Given the description of an element on the screen output the (x, y) to click on. 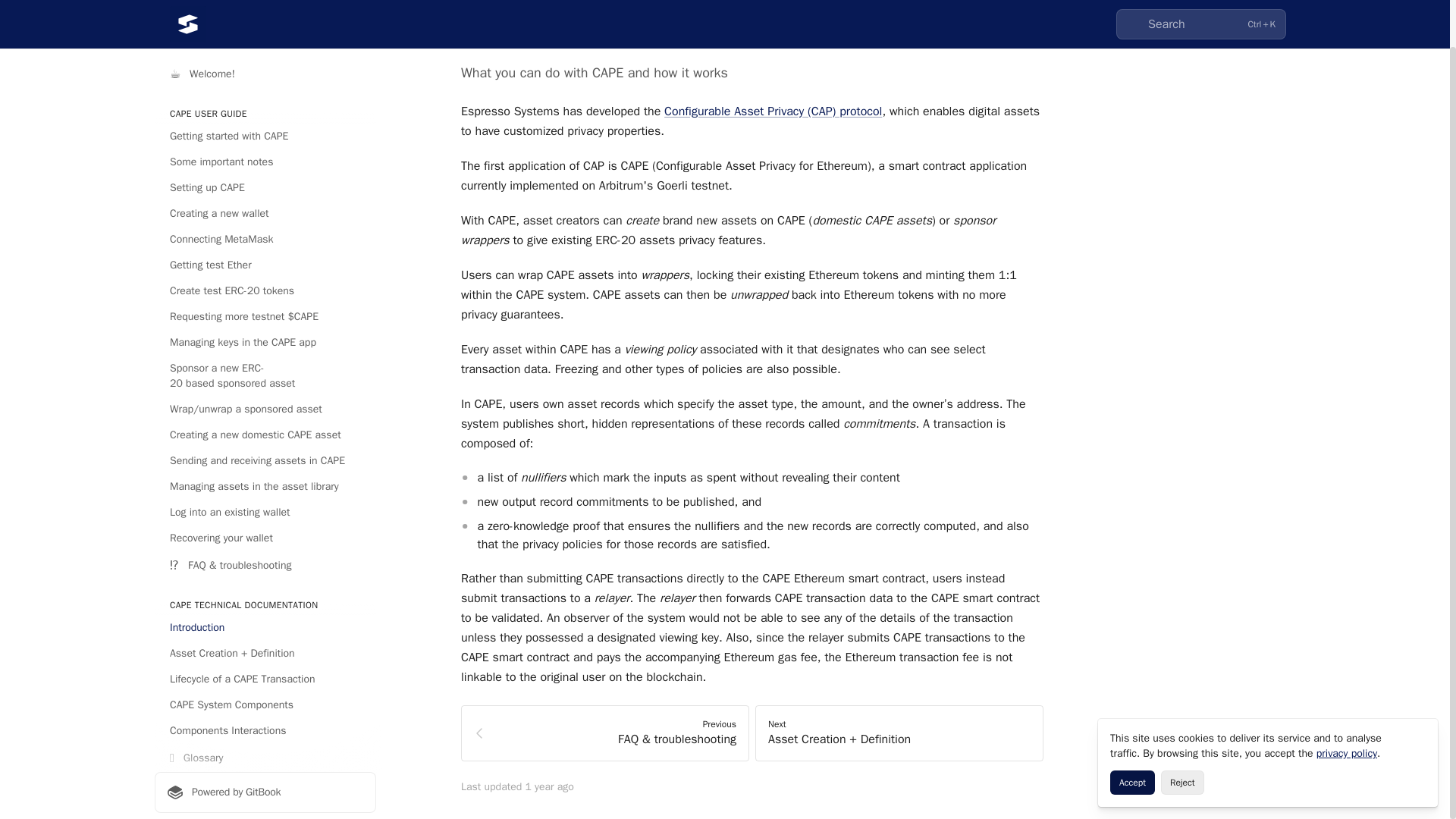
Log into an existing wallet (264, 462)
privacy policy (1346, 703)
Close (1419, 687)
Getting test Ether (264, 215)
Create test ERC-20 tokens (264, 241)
Reject (1182, 732)
Components Interactions (264, 680)
Lifecycle of a CAPE Transaction (264, 629)
Accept (1131, 732)
Powered by GitBook (264, 741)
